Given the description of an element on the screen output the (x, y) to click on. 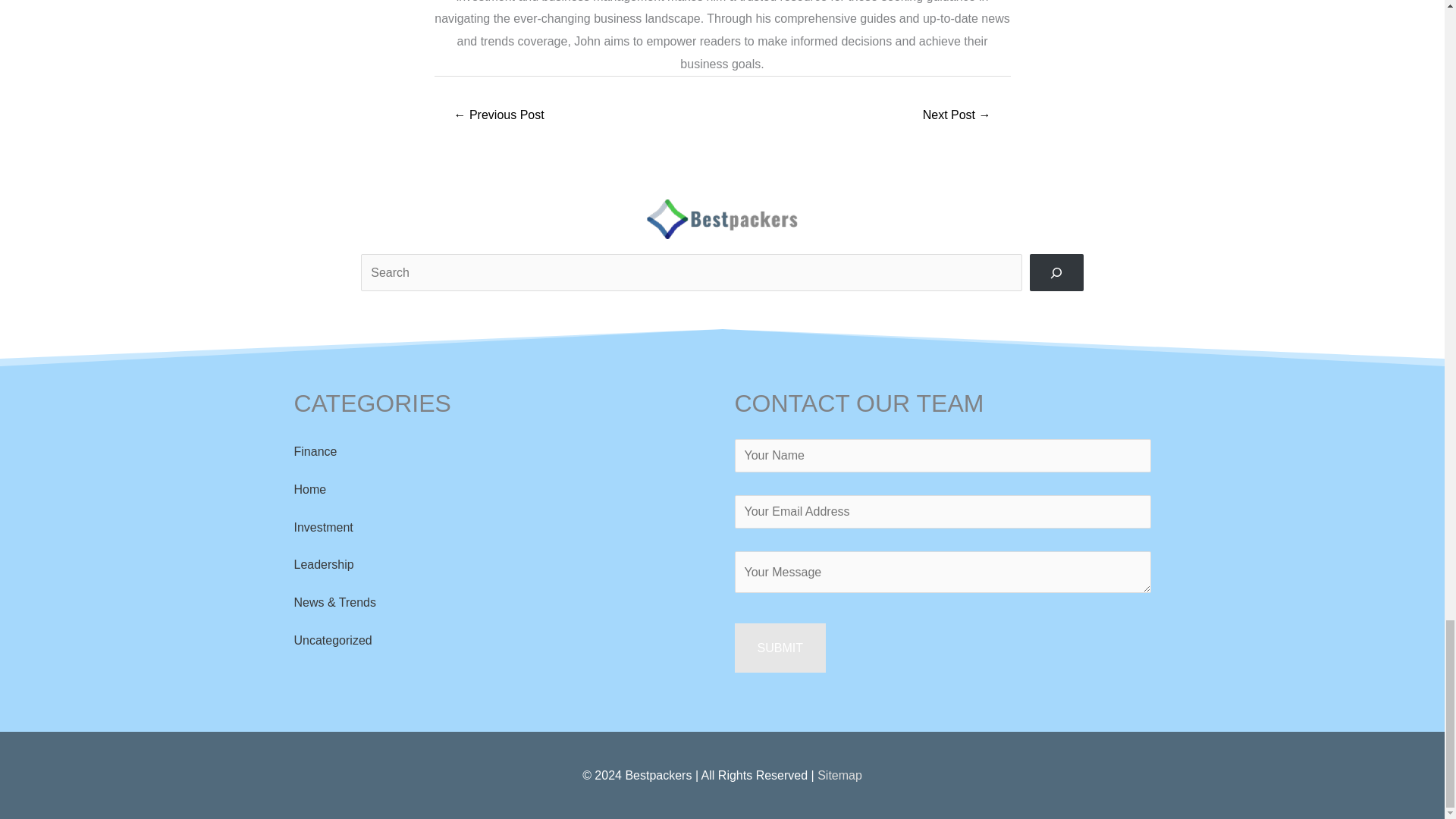
SUBMIT (779, 648)
SUBMIT (779, 648)
How Investing in Real Estate Can Help You Make a Living (956, 116)
Finance (315, 451)
How to Improve Fixer-upper Properties (498, 116)
Sitemap (838, 775)
Home (310, 489)
Uncategorized (333, 640)
Investment (323, 526)
Leadership (323, 563)
